Given the description of an element on the screen output the (x, y) to click on. 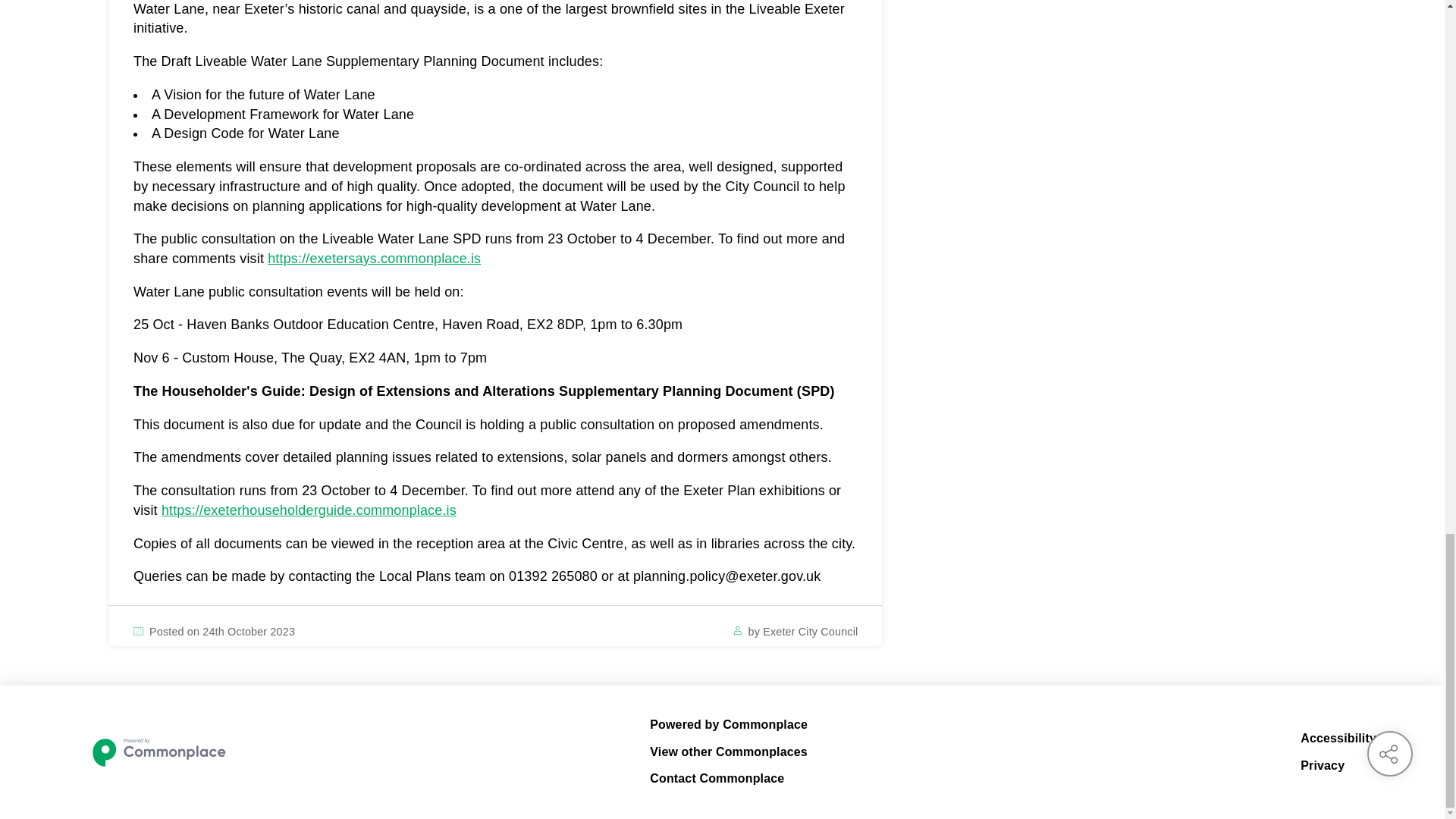
Powered by Commonplace (728, 724)
Contact Commonplace (728, 778)
Accessibility (1337, 738)
Privacy (1337, 765)
View other Commonplaces (728, 752)
